Given the description of an element on the screen output the (x, y) to click on. 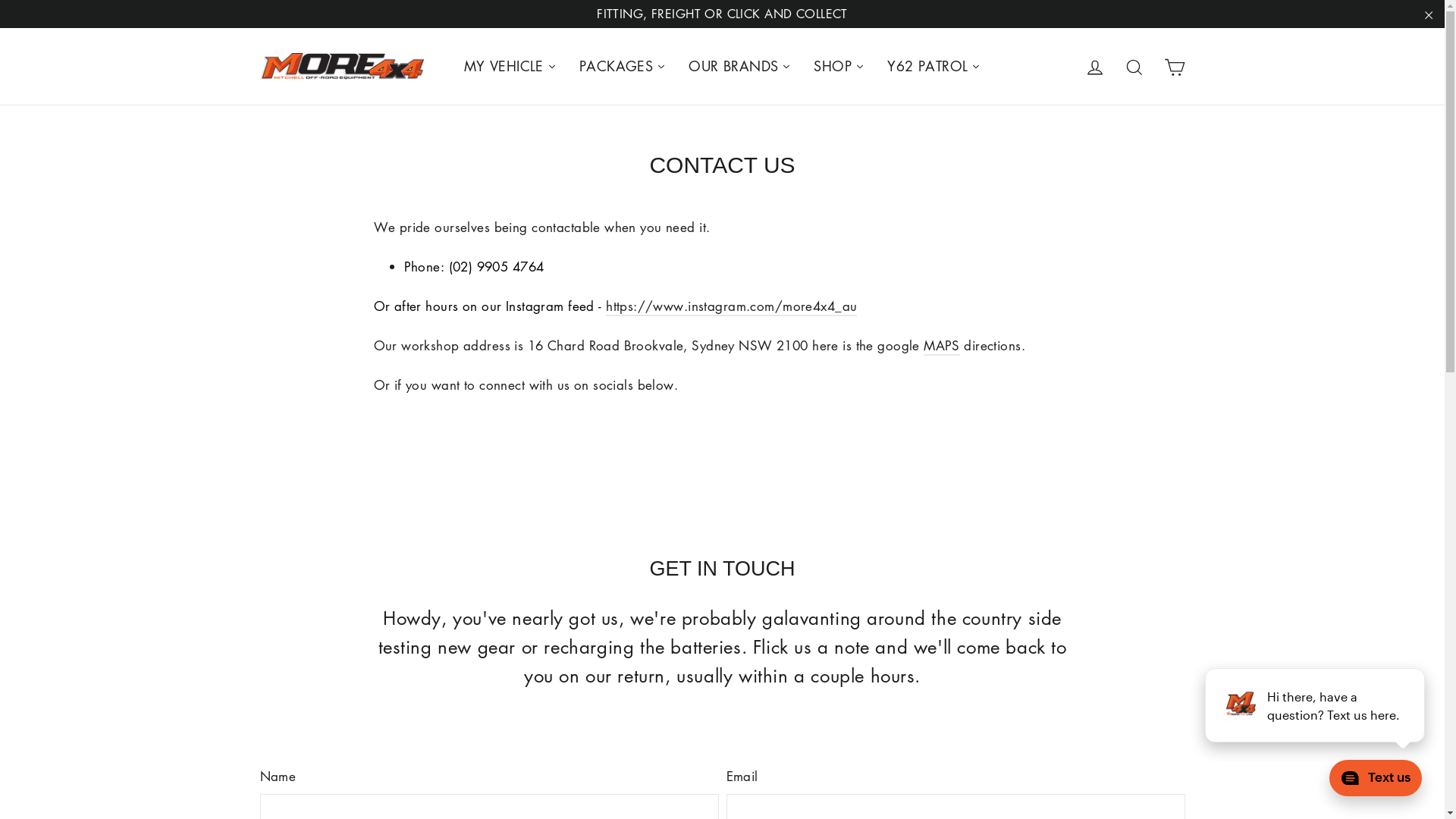
SHOP Element type: text (838, 66)
"Close" Element type: text (1428, 13)
Search Element type: text (1134, 65)
Y62 PATROL Element type: text (933, 66)
podium webchat widget prompt Element type: hover (1315, 705)
OUR BRANDS Element type: text (739, 66)
MAPS Element type: text (941, 345)
PACKAGES Element type: text (622, 66)
Log in Element type: text (1094, 65)
https://www.instagram.com/more4x4_au Element type: text (730, 306)
Cart Element type: text (1173, 65)
MY VEHICLE Element type: text (509, 66)
